Given the description of an element on the screen output the (x, y) to click on. 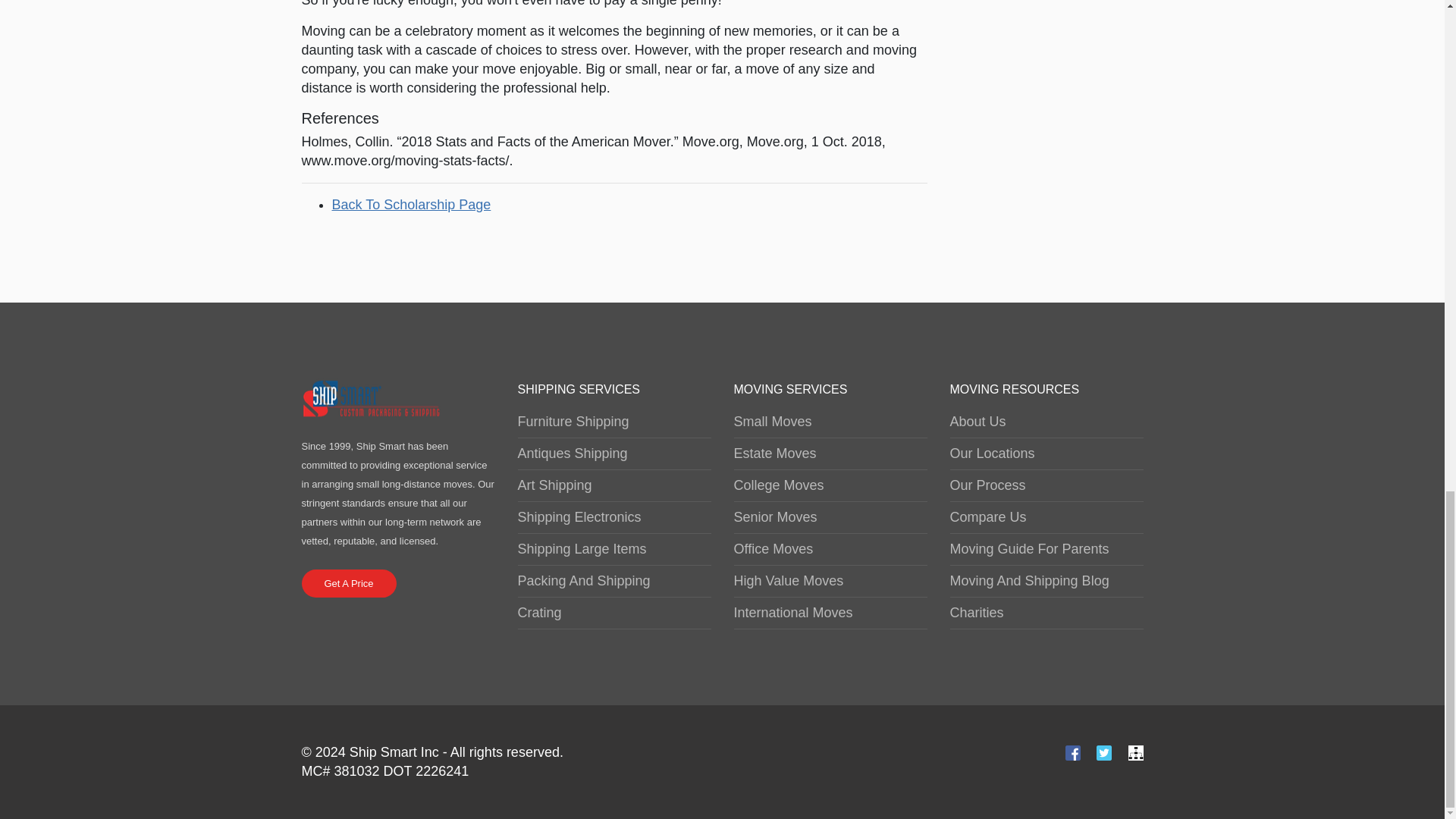
Small Movers (372, 397)
Get A Quote For Your Small Move Fast! (348, 583)
Back To Scholarship Page (411, 203)
